Given the description of an element on the screen output the (x, y) to click on. 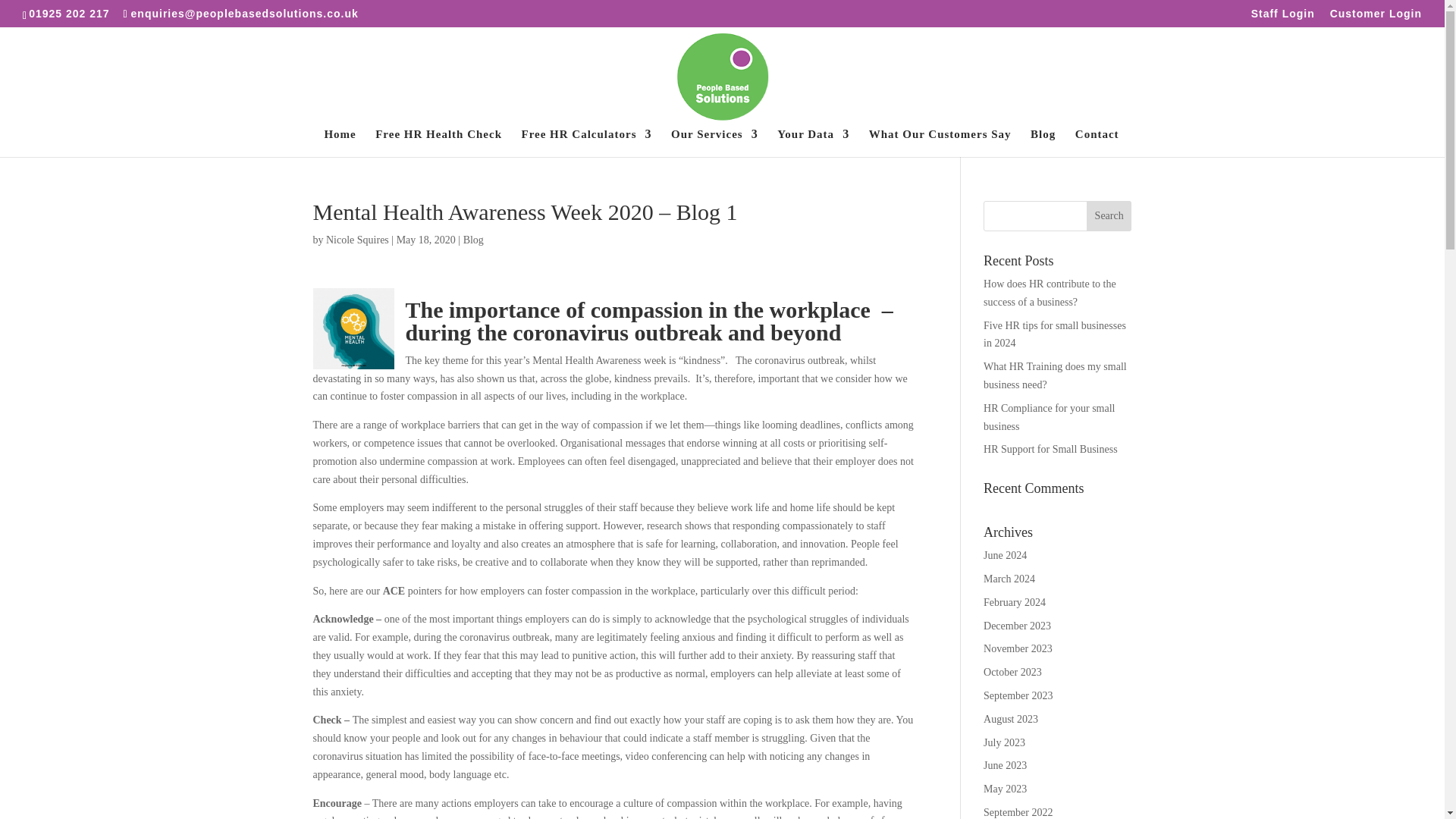
Search (1109, 215)
How does HR contribute to the success of a business? (1050, 292)
Nicole Squires (357, 239)
Home (339, 142)
What Our Customers Say (940, 142)
Blog (473, 239)
What HR Training does my small business need? (1055, 375)
Staff Login (1282, 16)
June 2024 (1005, 555)
March 2024 (1009, 578)
Blog (1042, 142)
Your Data (812, 142)
Contact (1097, 142)
Posts by Nicole Squires (357, 239)
Our Services (714, 142)
